Given the description of an element on the screen output the (x, y) to click on. 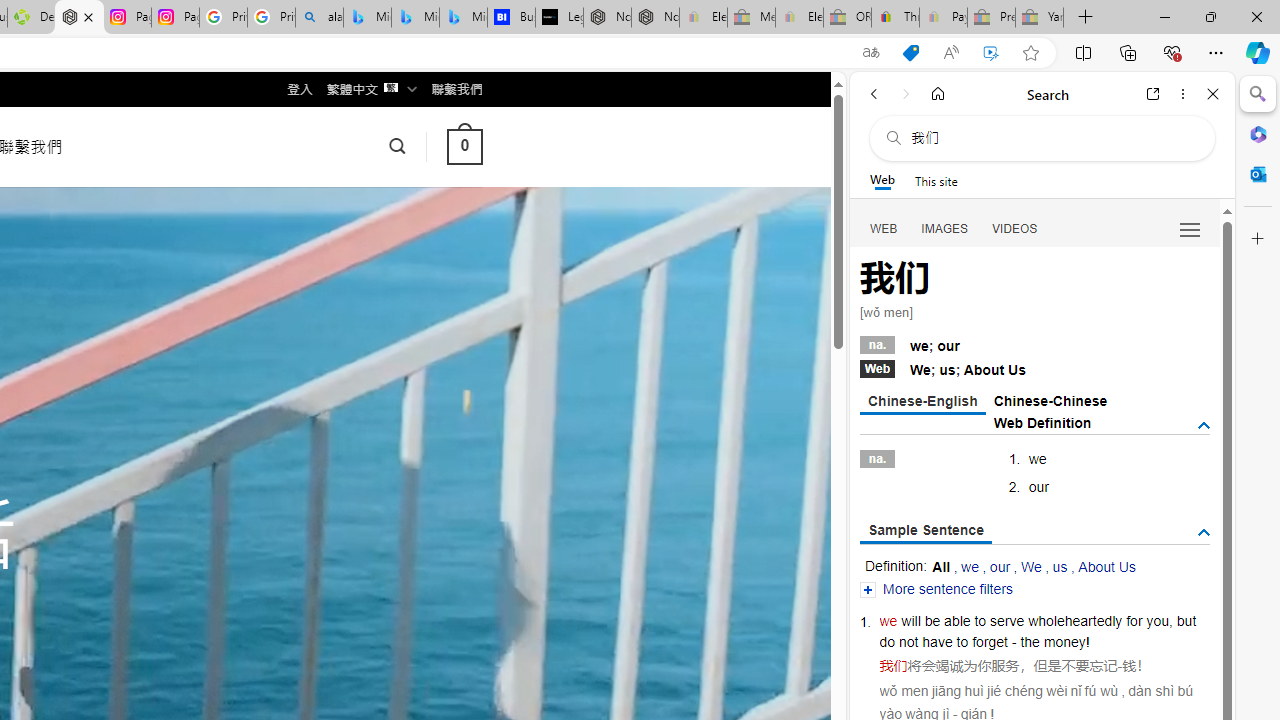
Press Room - eBay Inc. - Sleeping (991, 17)
na.we; our (1034, 343)
WEB (884, 228)
wholeheartedly (1074, 620)
us (1059, 566)
our (1000, 566)
AutomationID: tgdef_sen (1203, 533)
